Given the description of an element on the screen output the (x, y) to click on. 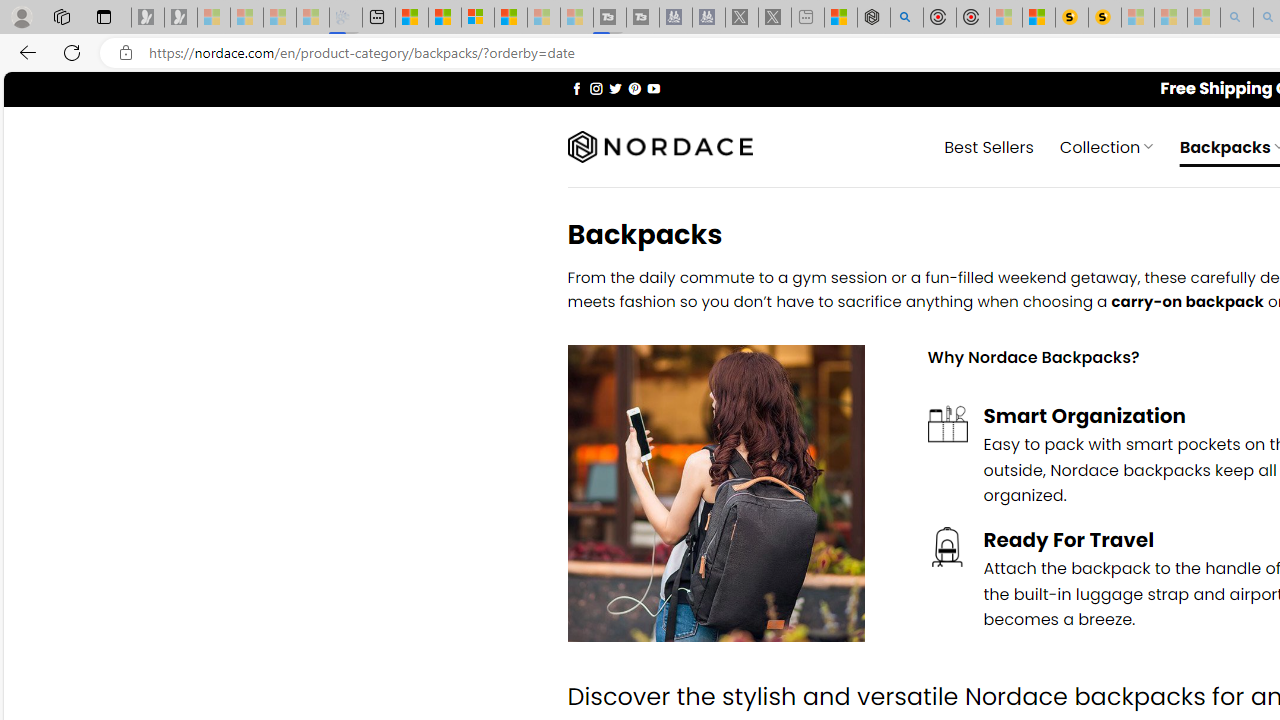
poe - Search (906, 17)
Follow on Instagram (596, 88)
Microsoft Start - Sleeping (543, 17)
